Given the description of an element on the screen output the (x, y) to click on. 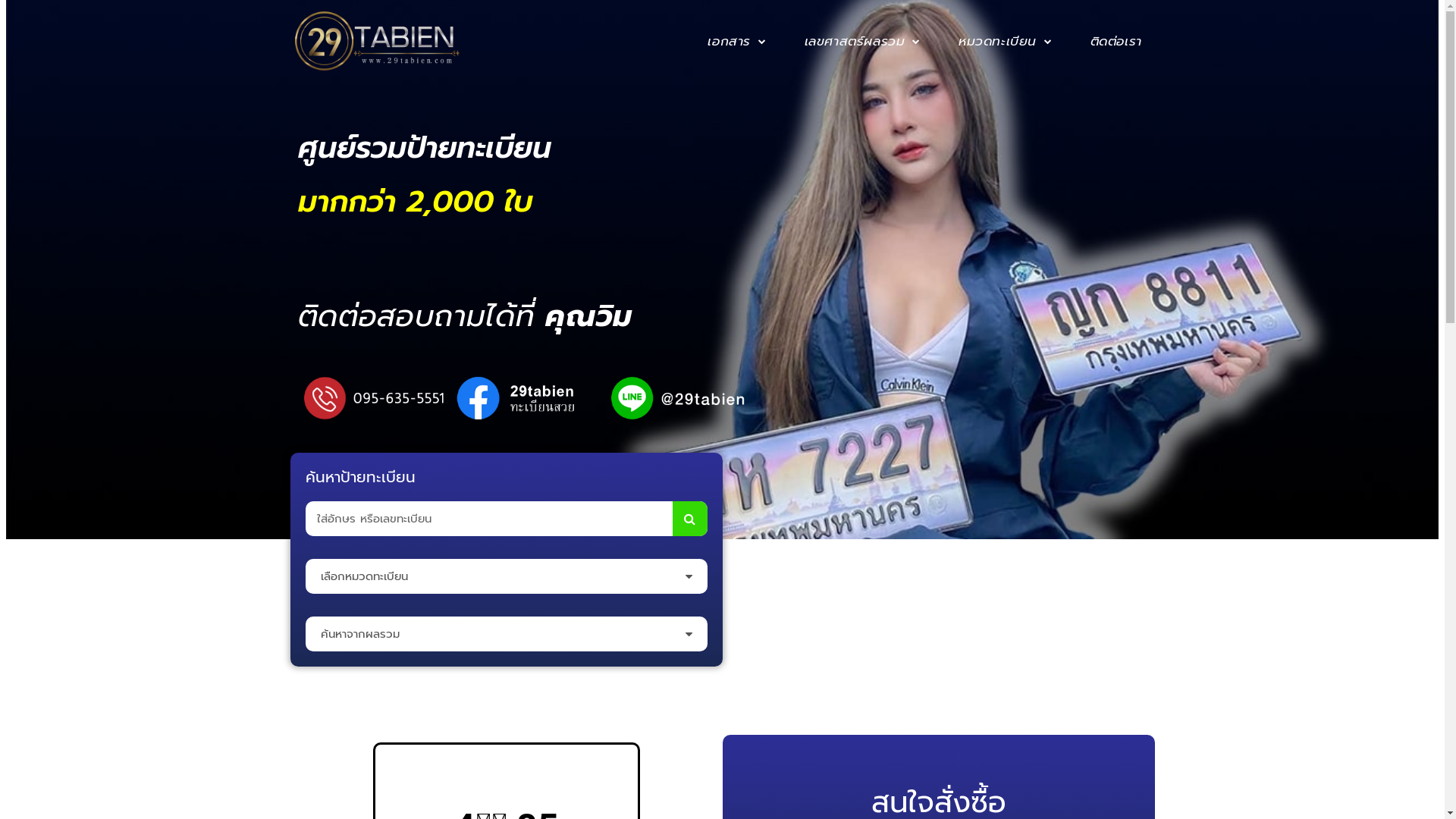
Search Element type: hover (688, 518)
Search Element type: hover (487, 518)
